Given the description of an element on the screen output the (x, y) to click on. 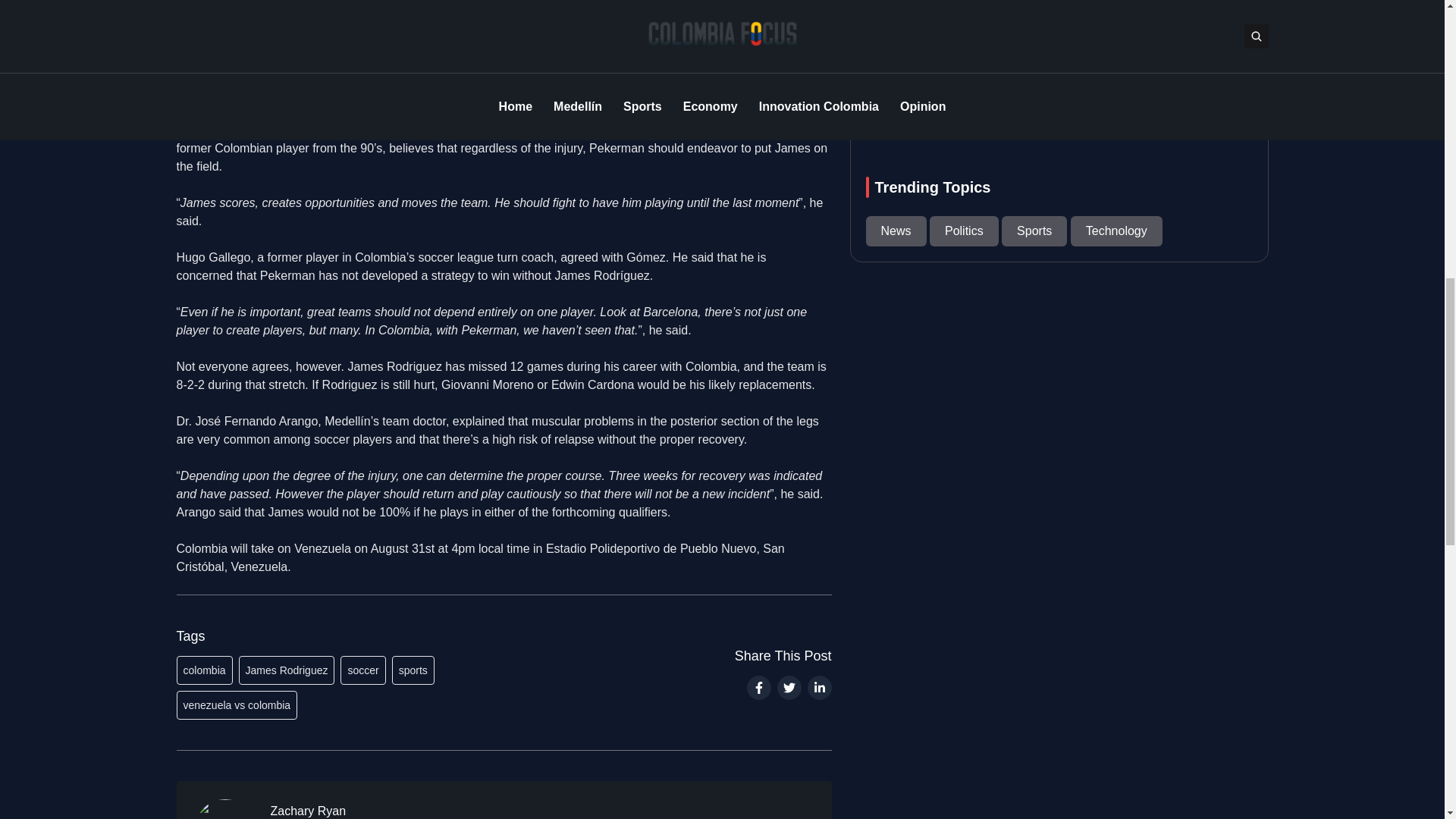
venezuela vs colombia (236, 705)
soccer (362, 670)
sports (412, 670)
James Rodriguez (286, 670)
colombia (203, 670)
